Given the description of an element on the screen output the (x, y) to click on. 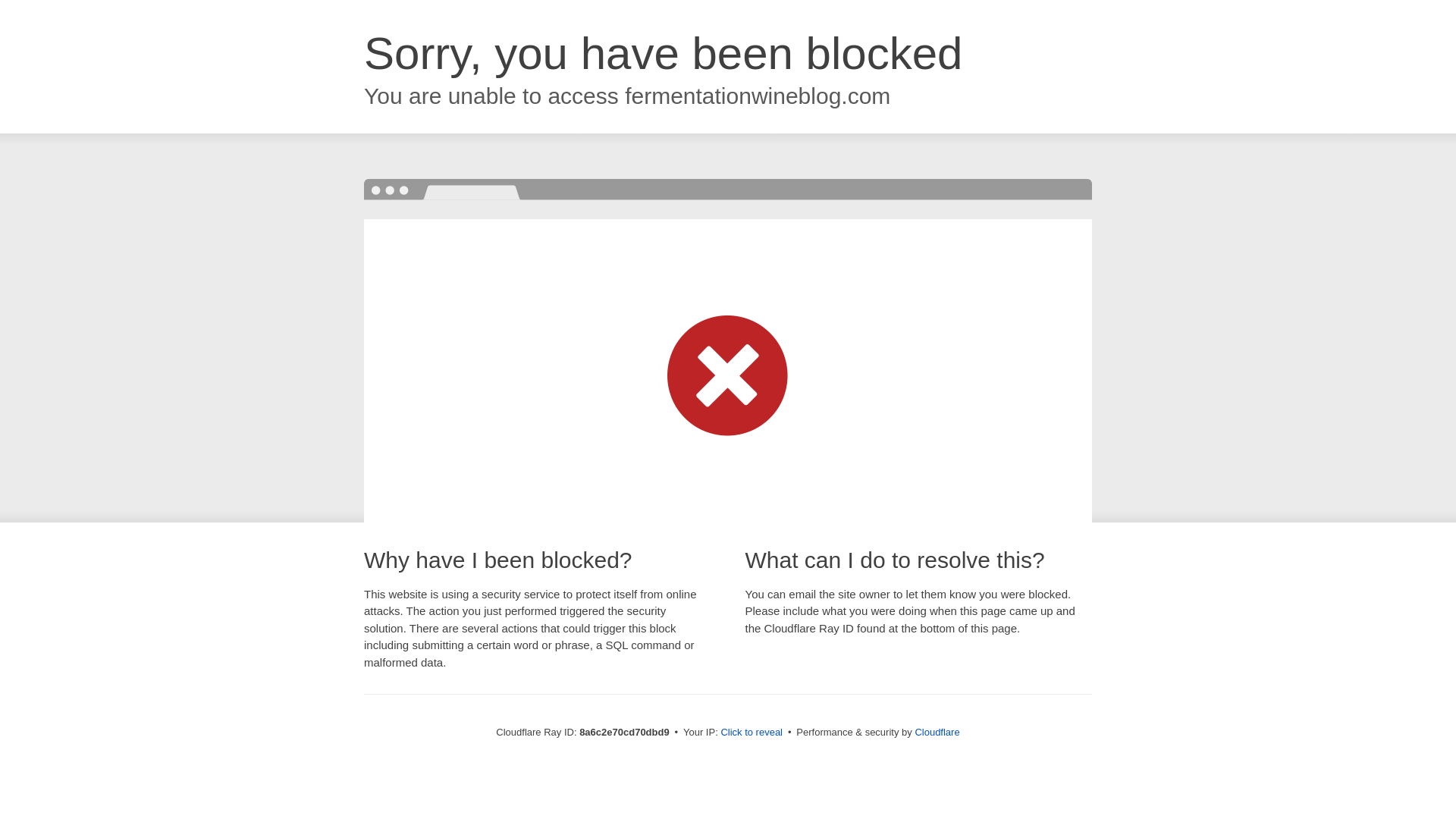
Click to reveal (751, 732)
Cloudflare (936, 731)
